Given the description of an element on the screen output the (x, y) to click on. 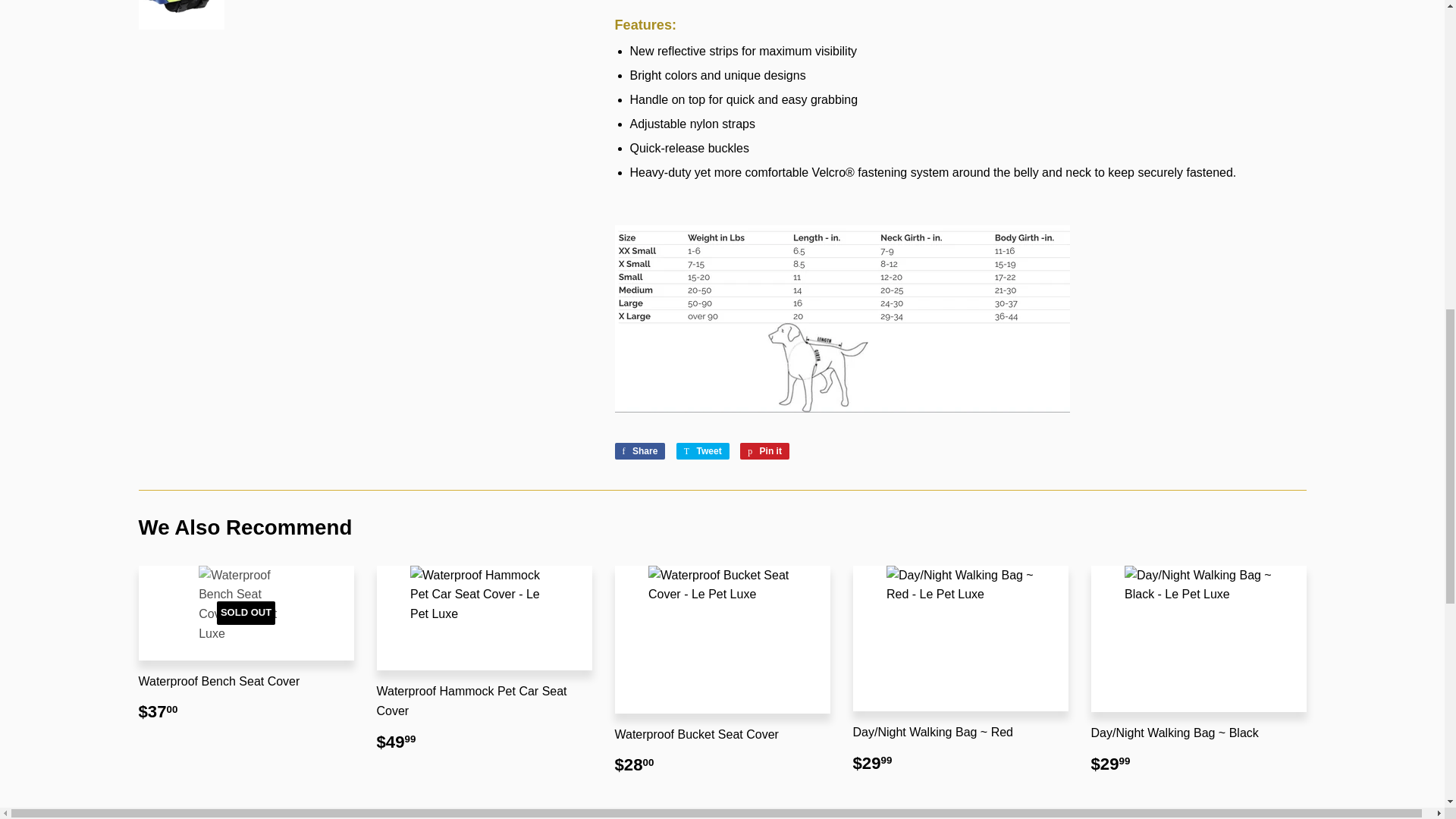
Pin on Pinterest (764, 451)
Tweet on Twitter (703, 451)
Share on Facebook (639, 451)
